Given the description of an element on the screen output the (x, y) to click on. 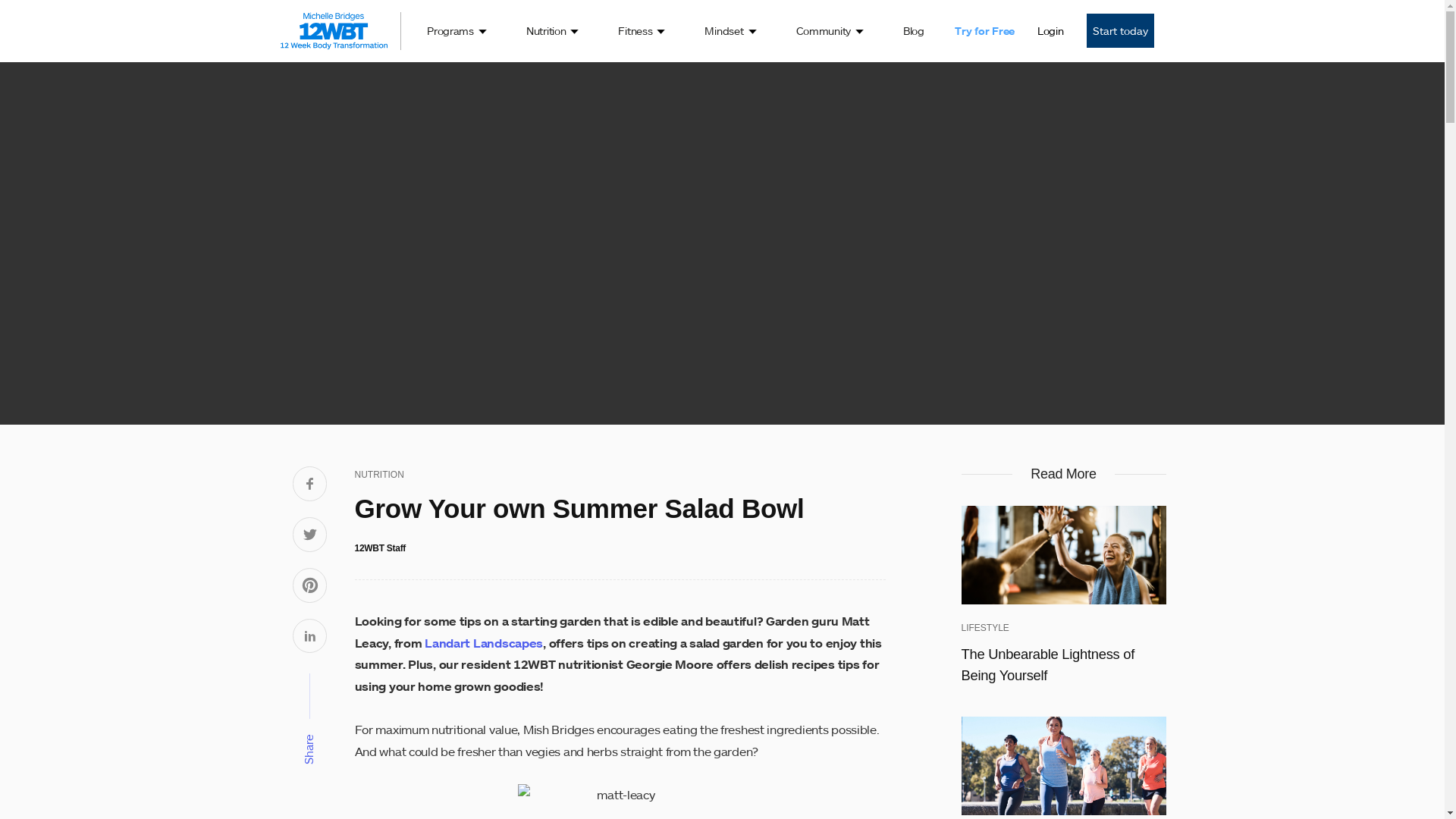
Fitness Element type: text (641, 30)
Login Element type: text (1050, 30)
Landart Landscapes Element type: text (483, 642)
12WBT Staff Element type: text (380, 547)
Blog Element type: text (913, 30)
Mindset Element type: text (730, 30)
Try for Free Element type: text (984, 30)
Share on Pinterest Element type: hover (309, 586)
Share on Facebook Element type: hover (309, 484)
Start today Element type: text (1119, 30)
Programs Element type: text (456, 30)
The Unbearable Lightness of Being Yourself Element type: text (1063, 664)
Nutrition Element type: text (552, 30)
Share on Twitter Element type: hover (309, 535)
Community Element type: text (829, 30)
Share on Linkedin Element type: hover (309, 636)
NUTRITION Element type: text (379, 474)
LIFESTYLE Element type: text (985, 627)
